Given the description of an element on the screen output the (x, y) to click on. 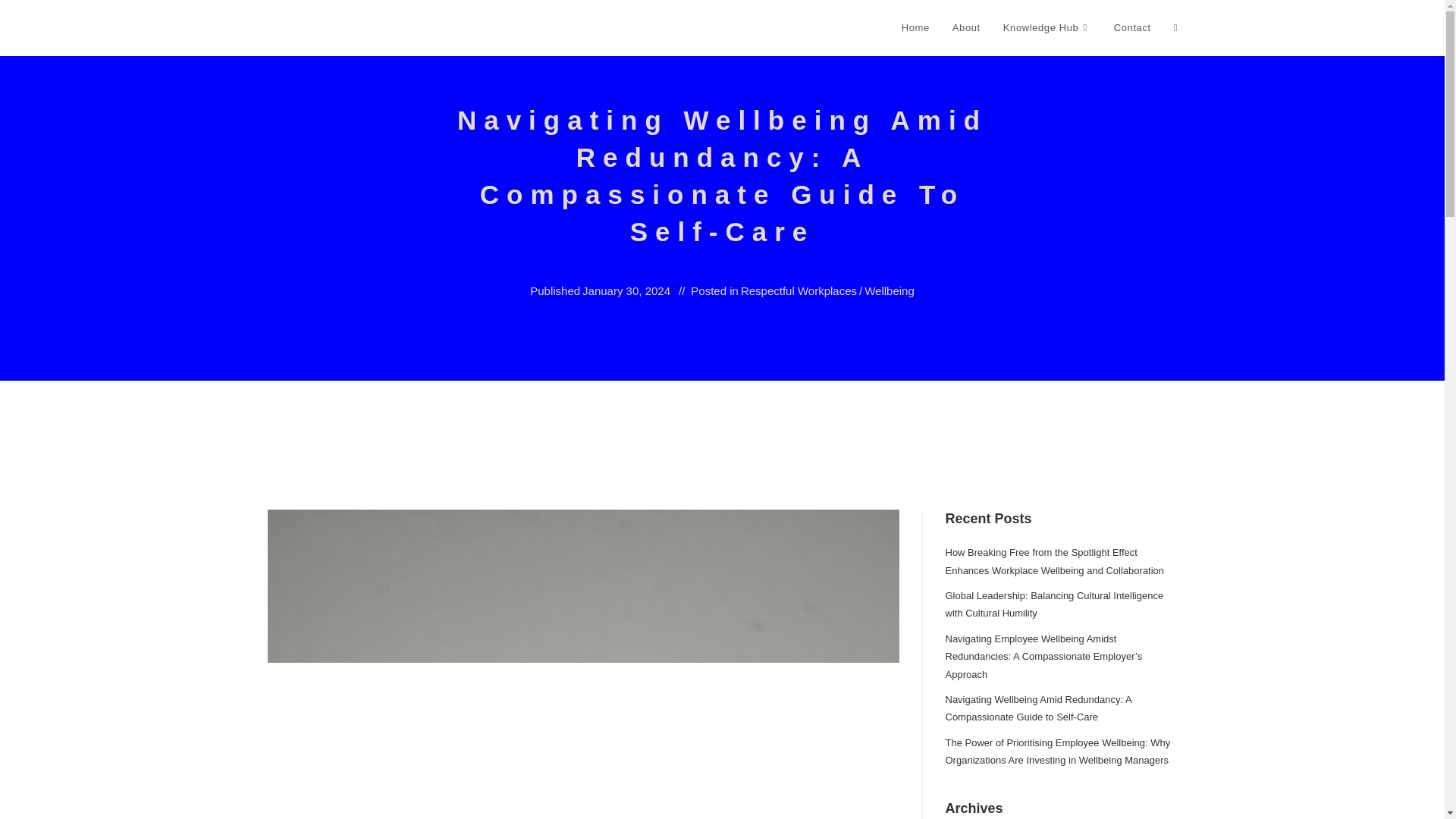
Home (914, 28)
Contact (1131, 28)
Respectful Workplaces (799, 290)
Wellbeing (889, 290)
Knowledge Hub (1046, 28)
About (965, 28)
